Given the description of an element on the screen output the (x, y) to click on. 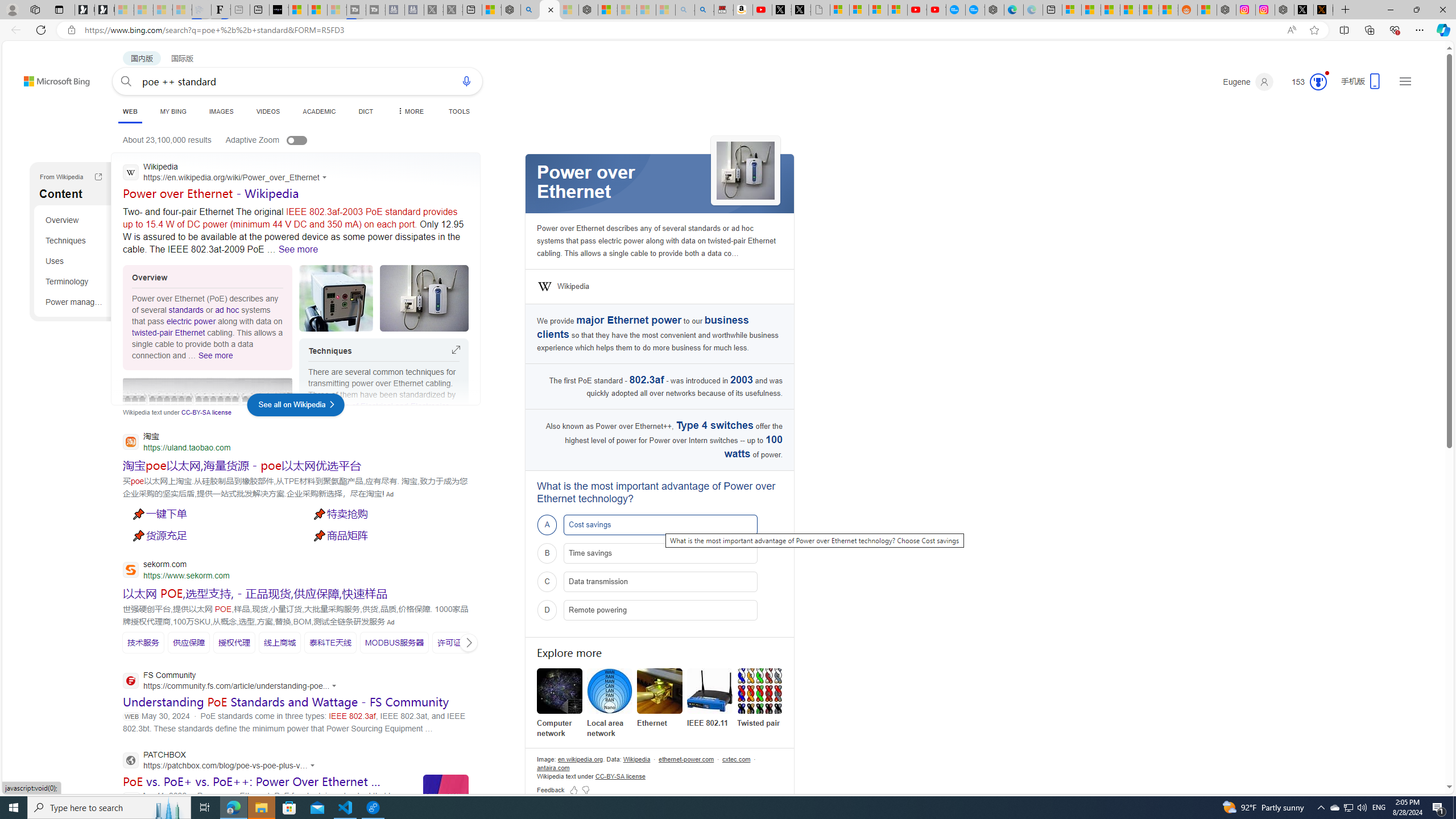
SERP,5927 (189, 642)
What's the best AI voice generator? - voice.ai (279, 9)
The most popular Google 'how to' searches (975, 9)
Computer network (559, 691)
Dropdown Menu (410, 111)
electric power (190, 320)
Uses image (335, 298)
SERP,5927 (188, 642)
